Given the description of an element on the screen output the (x, y) to click on. 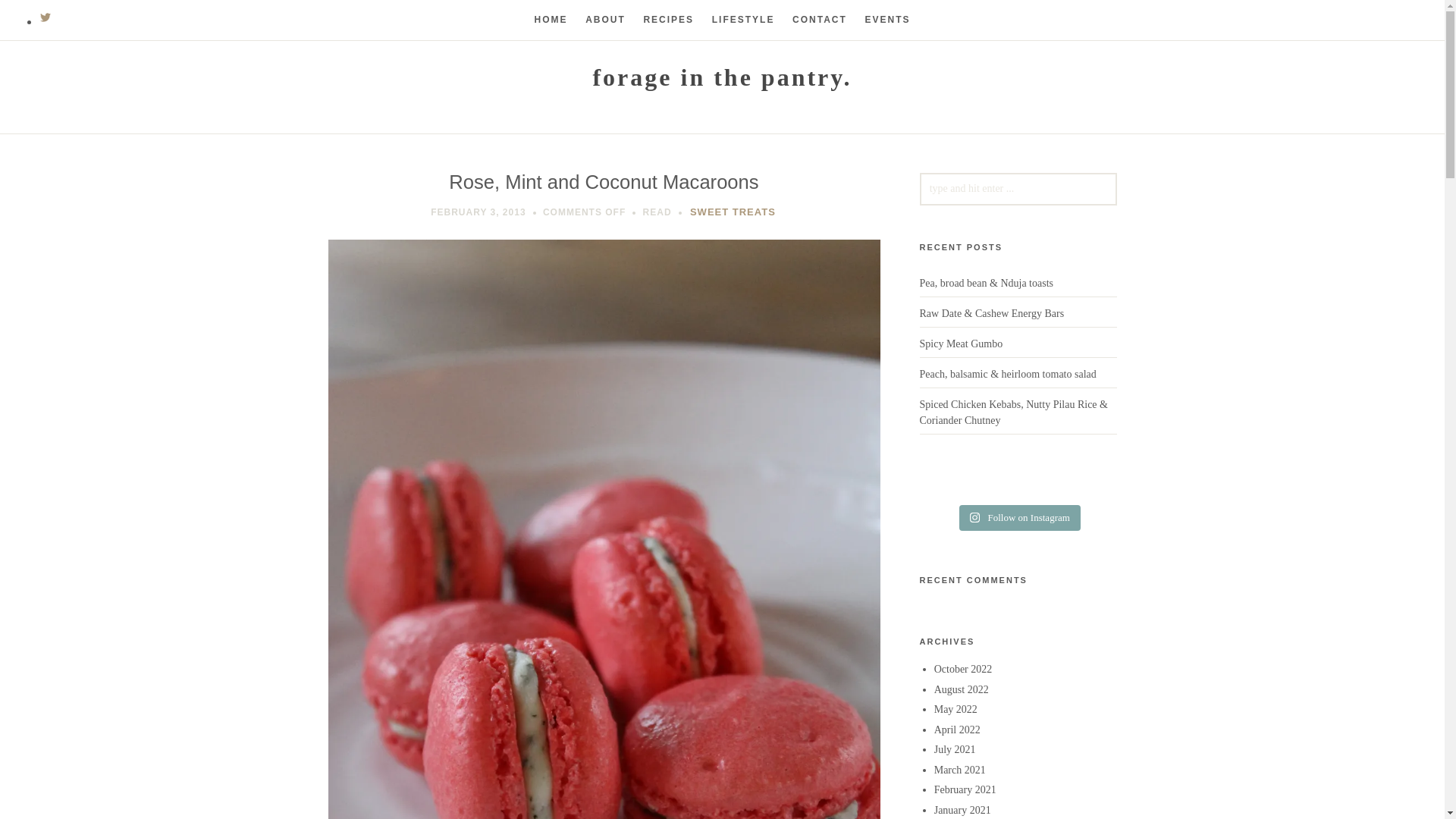
October 2022 (963, 668)
Follow on Instagram (1019, 517)
July 2021 (954, 749)
LIFESTYLE (742, 20)
EVENTS (887, 20)
forage in the pantry. (721, 76)
March 2021 (959, 769)
Spicy Meat Gumbo (960, 343)
February 2021 (964, 789)
RECIPES (668, 20)
